Given the description of an element on the screen output the (x, y) to click on. 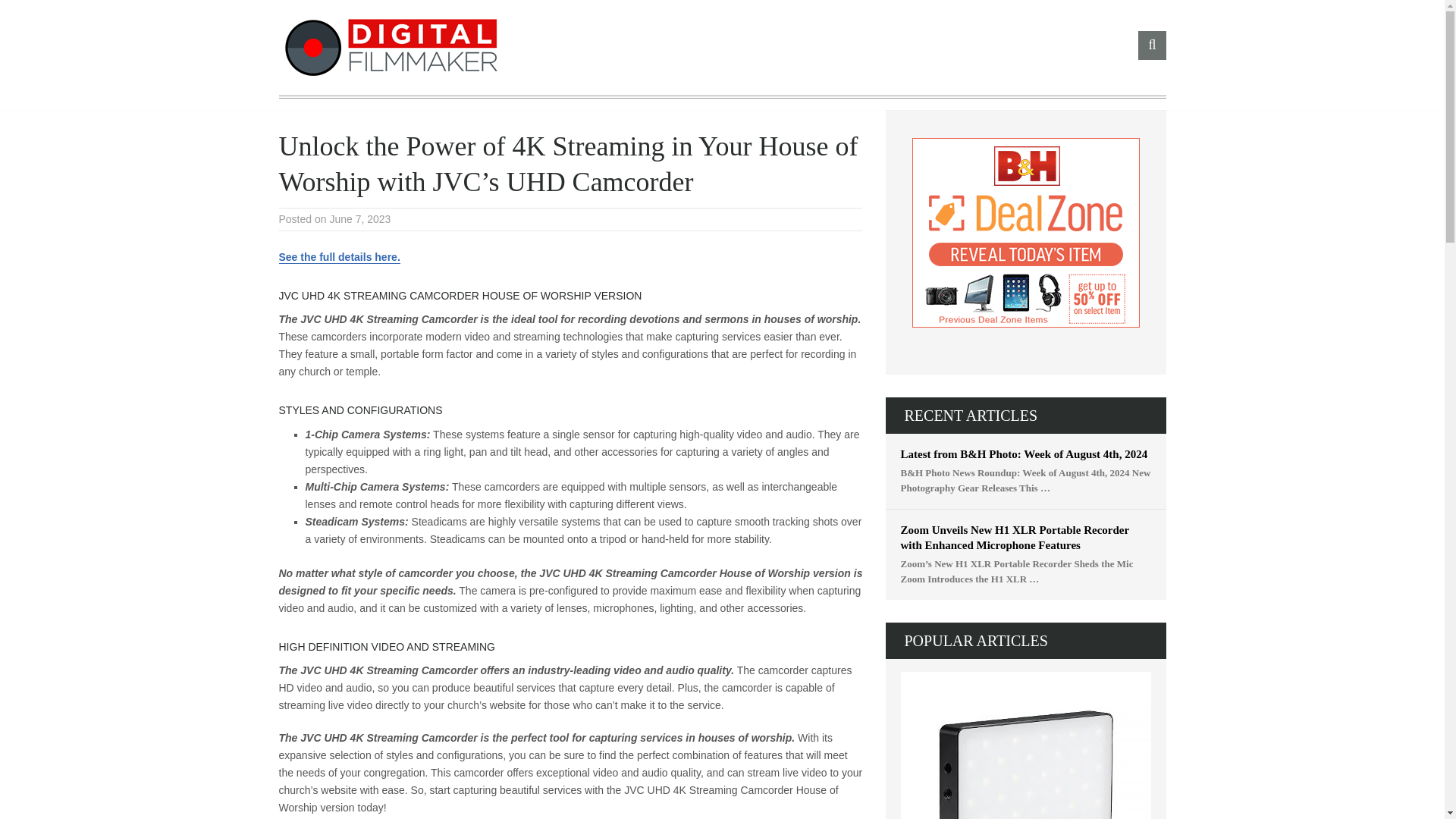
See the full details here. (339, 256)
